Given the description of an element on the screen output the (x, y) to click on. 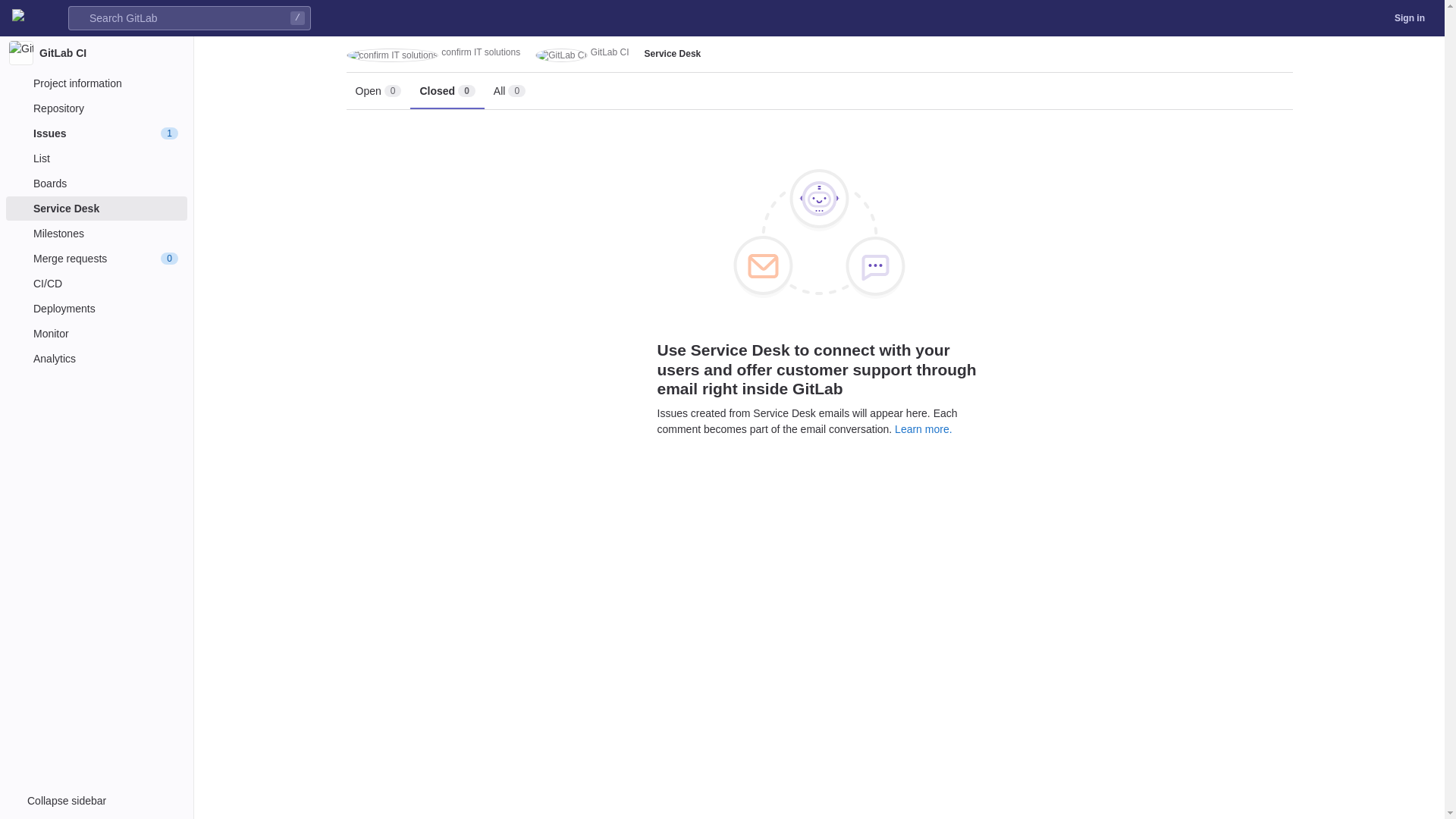
Deployments Element type: text (96, 308)
List Element type: text (96, 158)
Boards Element type: text (96, 183)
Homepage Element type: hover (18, 18)
Merge requests
0 Element type: text (96, 258)
Service Desk Element type: text (96, 208)
Milestones Element type: text (96, 233)
GitLab CI Element type: text (97, 52)
Issues
1 Element type: text (96, 133)
Repository Element type: text (96, 108)
Open
0 Element type: text (377, 90)
Monitor Element type: text (96, 333)
Service Desk Element type: text (672, 53)
Project information Element type: text (96, 83)
GitLab CI Element type: text (581, 53)
confirm IT solutions Element type: text (432, 53)
CI/CD Element type: text (96, 283)
Learn more. Element type: text (922, 429)
Skip to content Element type: text (11, 18)
Help Element type: text (1366, 18)
All
0 Element type: text (509, 90)
Closed
0 Element type: text (446, 90)
Sign in Element type: text (1409, 18)
Analytics Element type: text (96, 358)
